Given the description of an element on the screen output the (x, y) to click on. 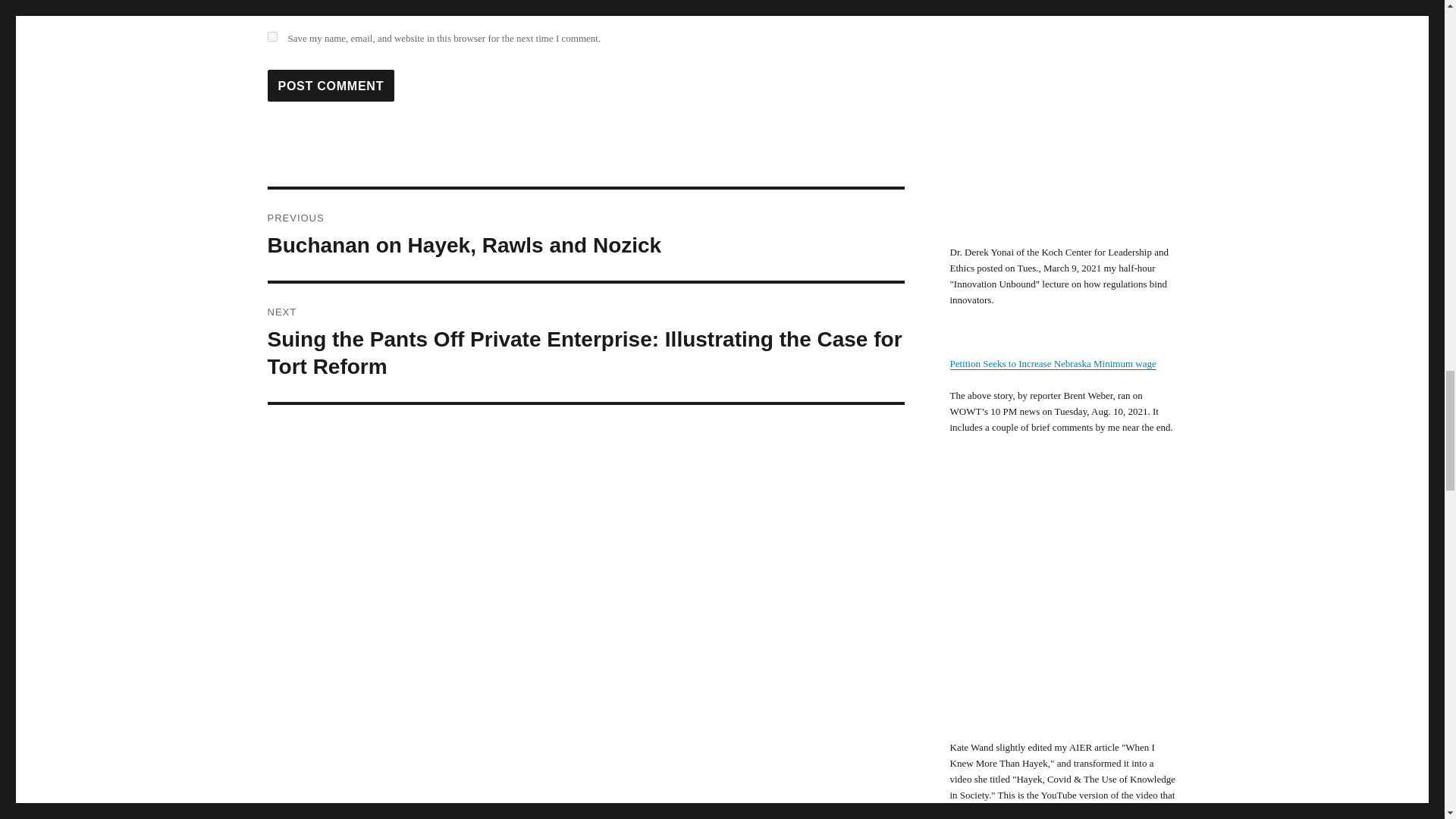
Post Comment (585, 234)
Post Comment (330, 85)
Petition Seeks to Increase Nebraska Minimum wage (330, 85)
yes (1052, 363)
